Given the description of an element on the screen output the (x, y) to click on. 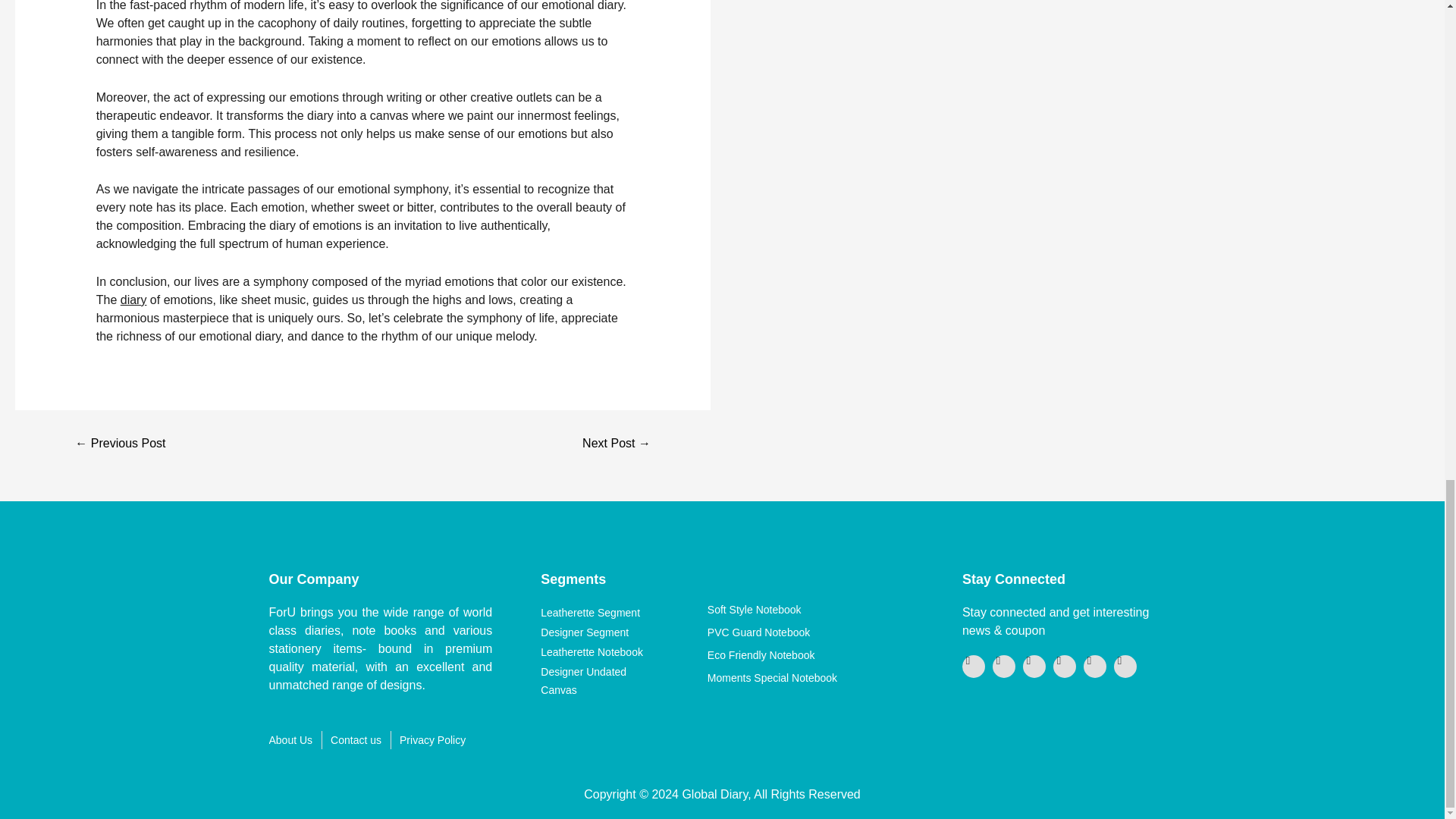
diary (133, 299)
